Given the description of an element on the screen output the (x, y) to click on. 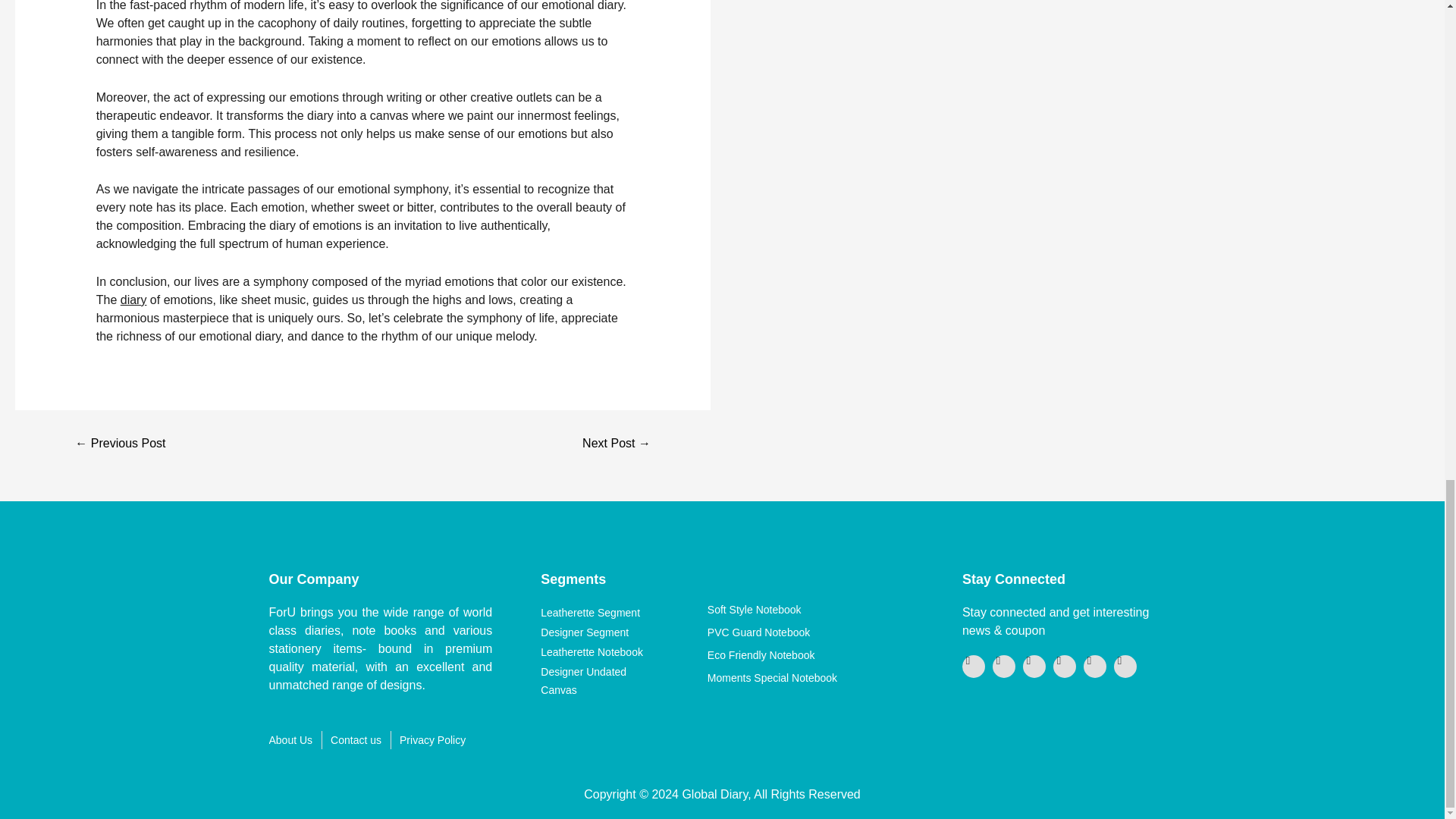
diary (133, 299)
